Given the description of an element on the screen output the (x, y) to click on. 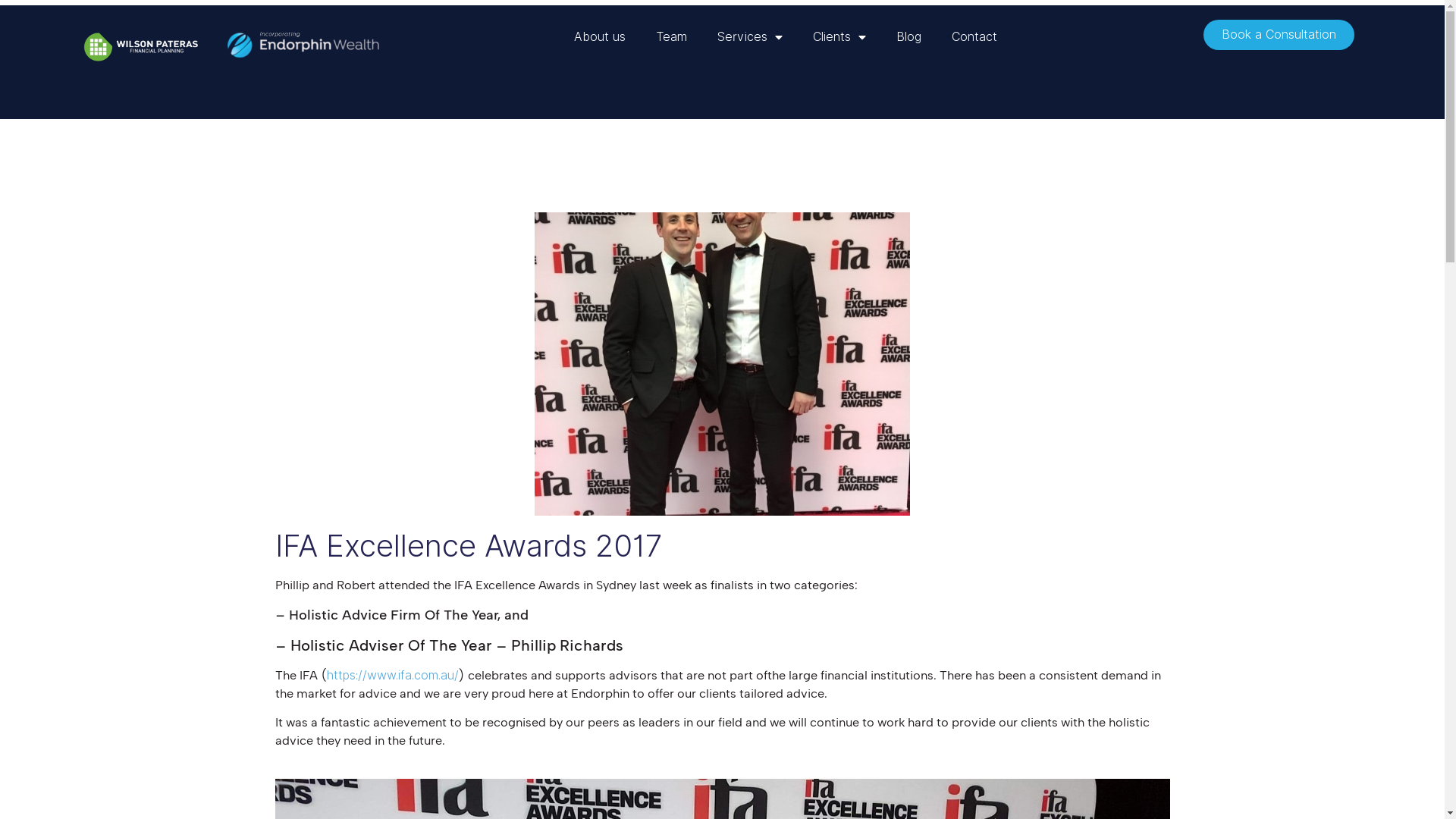
Services Element type: text (749, 36)
About us Element type: text (599, 36)
https://www.ifa.com.au/ Element type: text (392, 674)
Book a Consultation Element type: text (1278, 34)
Team Element type: text (671, 36)
Blog Element type: text (908, 36)
Clients Element type: text (839, 36)
Contact Element type: text (974, 36)
